Given the description of an element on the screen output the (x, y) to click on. 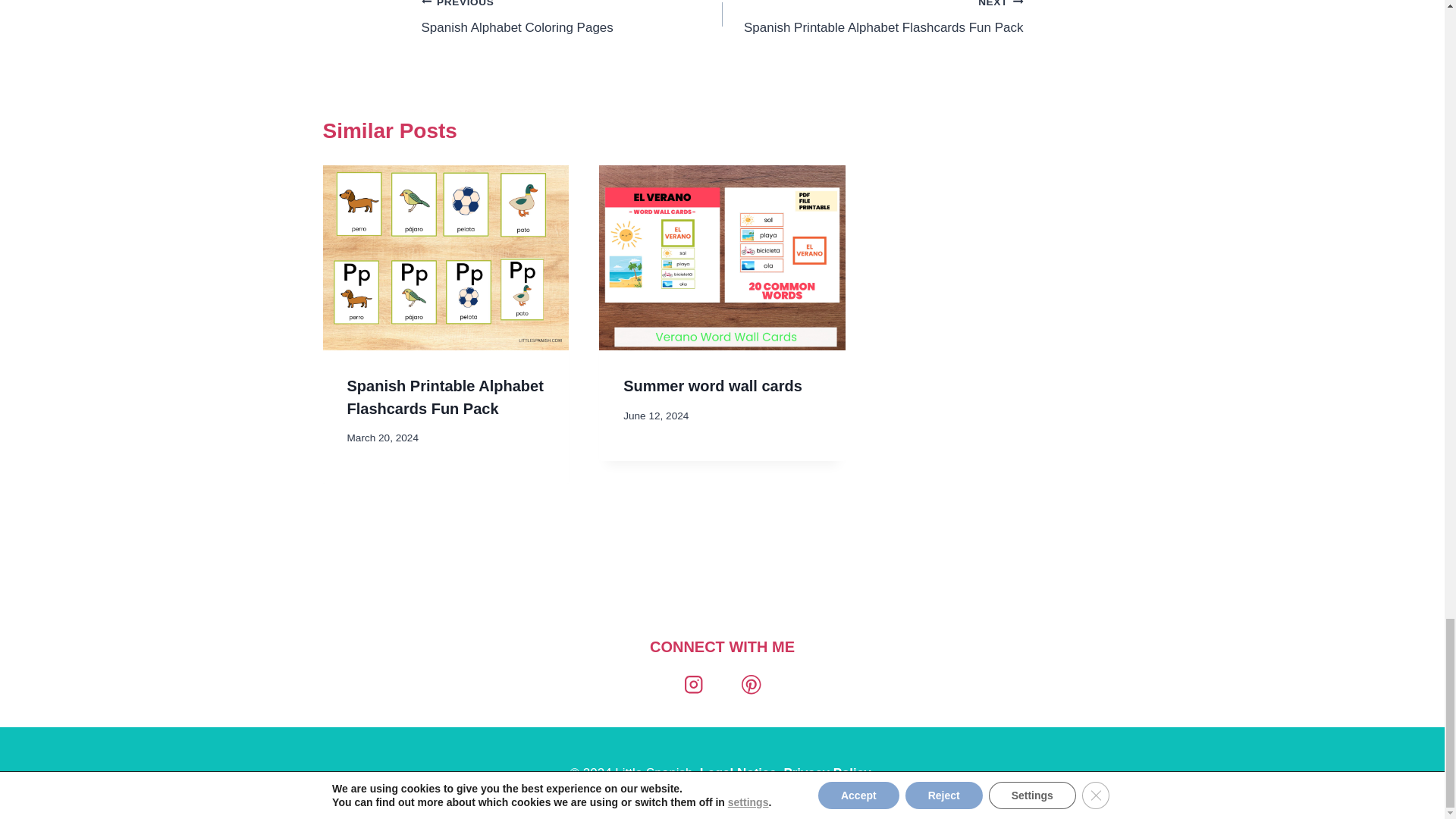
Privacy Policy (572, 19)
Legal Notice (872, 19)
Spanish Printable Alphabet Flashcards Fun Pack (826, 772)
Summer word wall cards (738, 772)
